Given the description of an element on the screen output the (x, y) to click on. 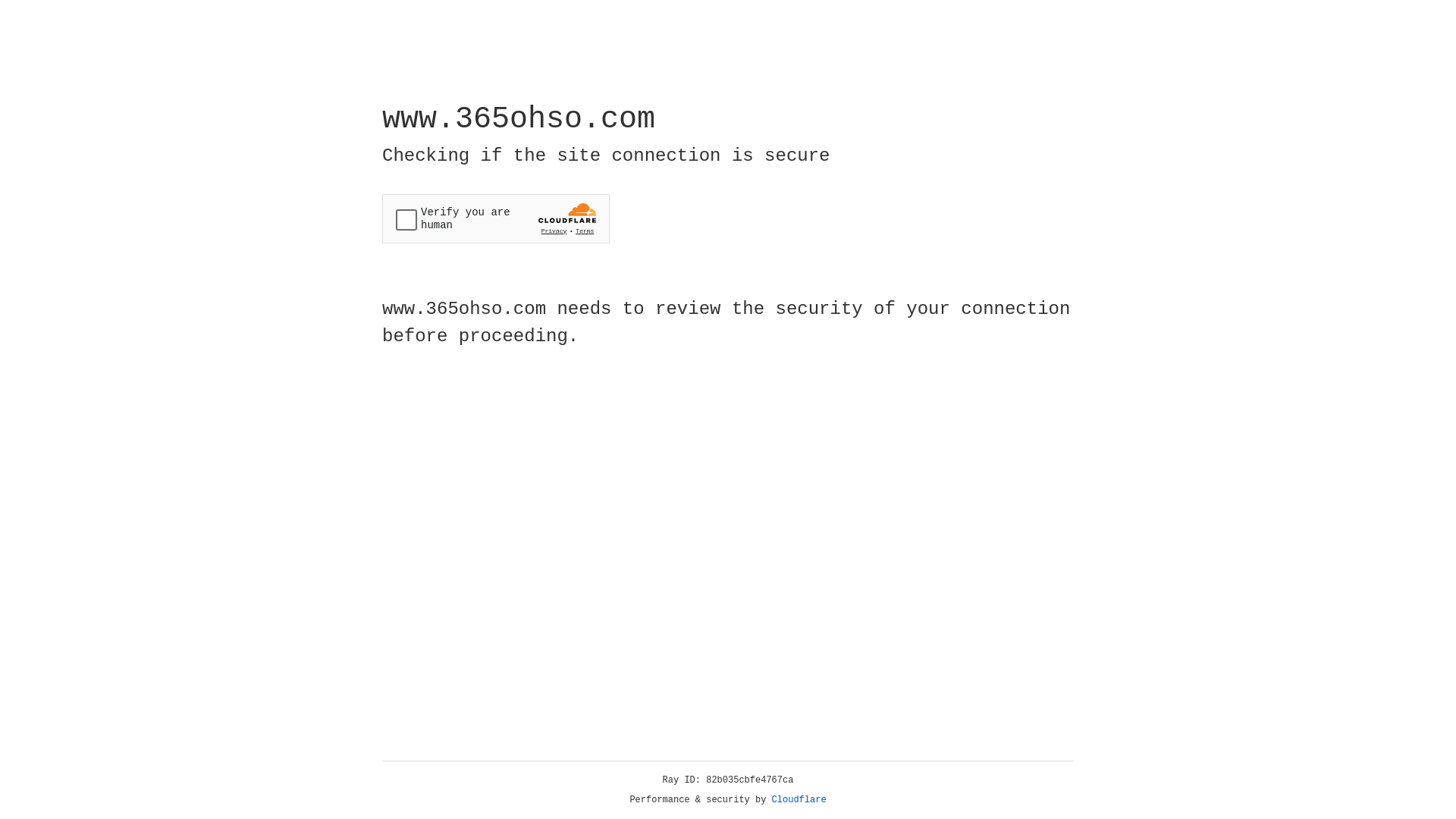
Cloudflare Element type: text (798, 799)
Widget containing a Cloudflare security challenge Element type: hover (495, 218)
